Given the description of an element on the screen output the (x, y) to click on. 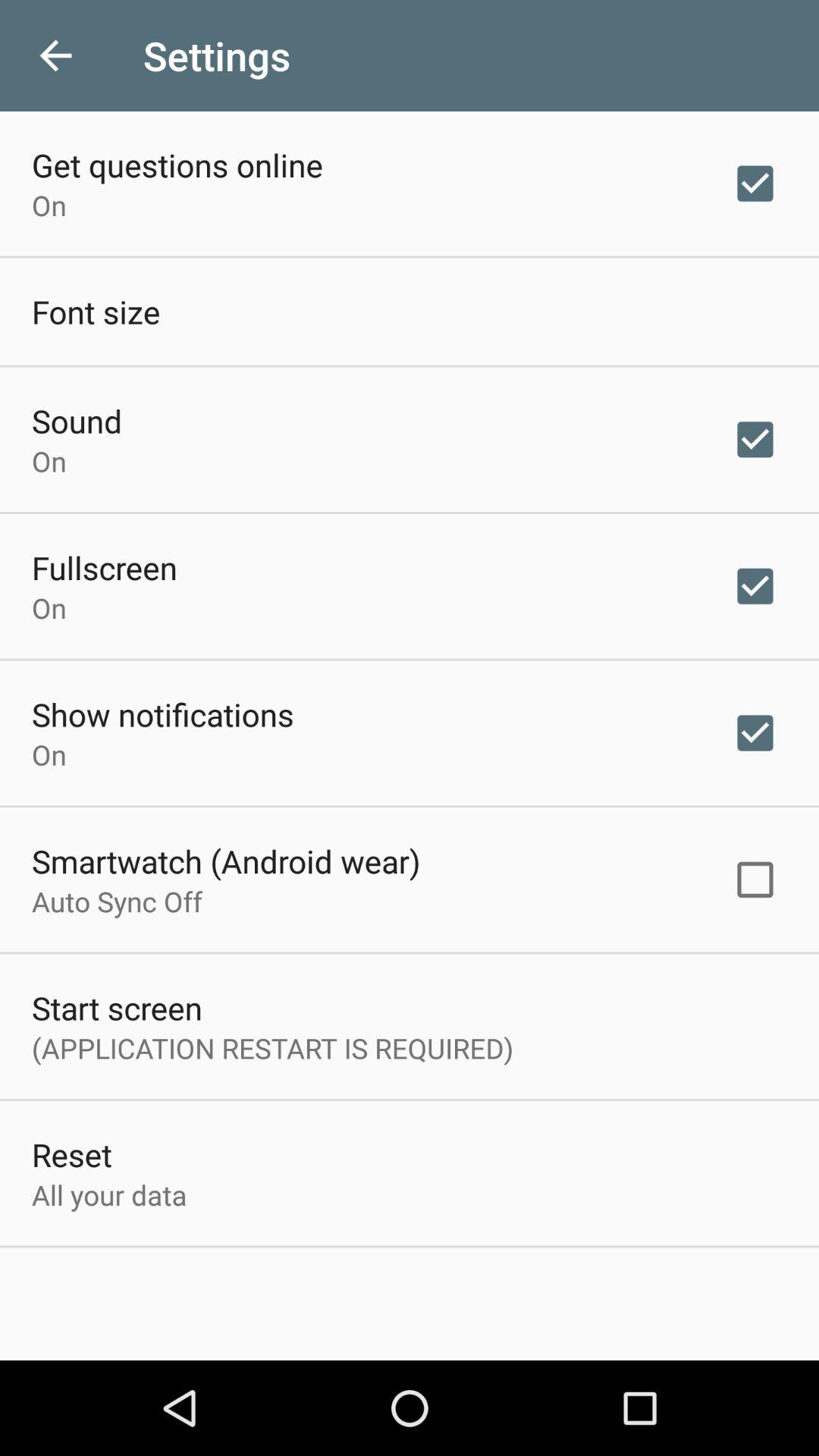
turn off the icon next to the settings icon (55, 55)
